Given the description of an element on the screen output the (x, y) to click on. 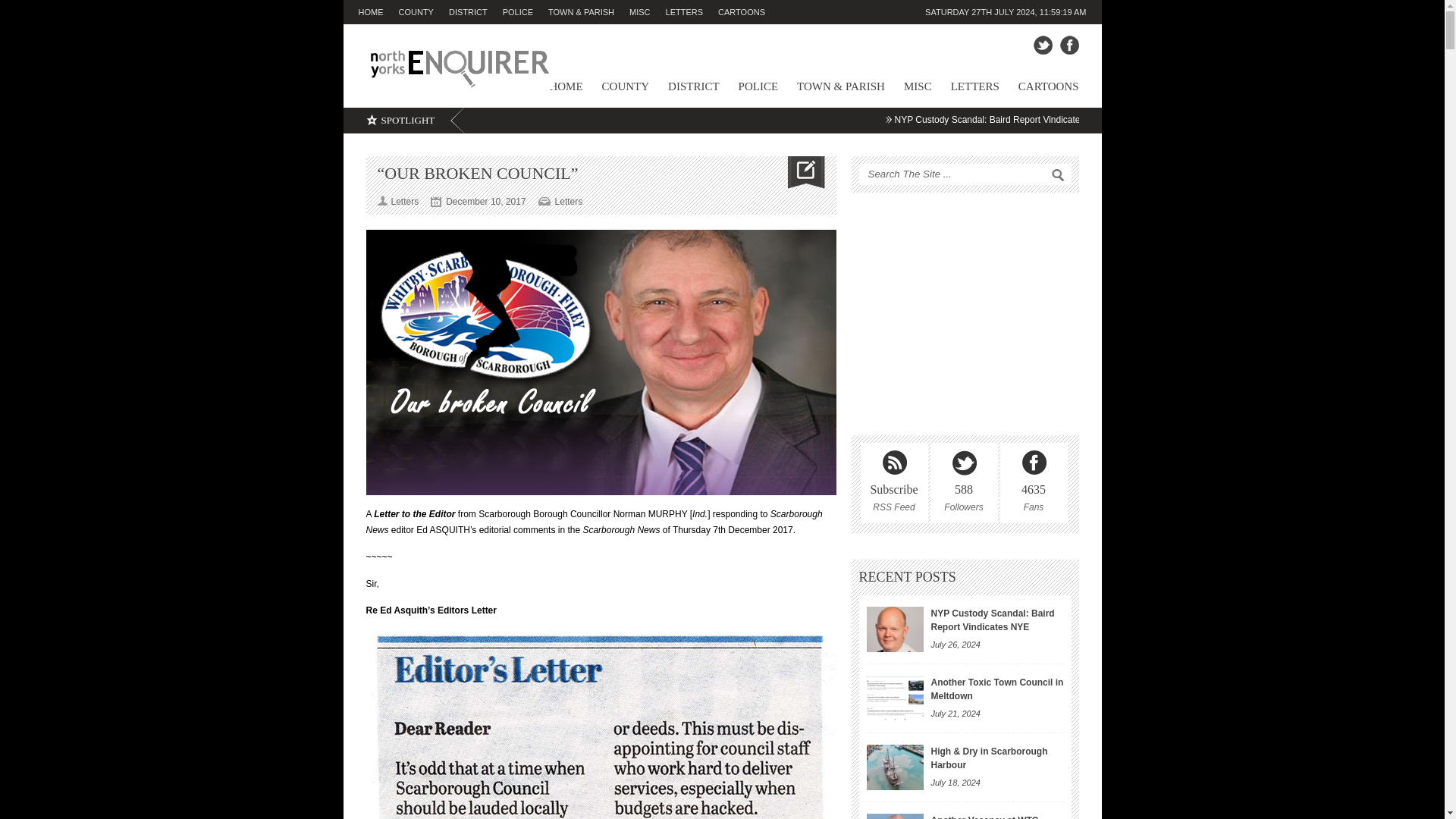
Advertisement (964, 313)
Another Toxic Town Council in Meltdown (997, 689)
Another Vacancy at WTC (894, 816)
NYP Custody Scandal: Baird Report Vindicates NYE (992, 620)
Posts by Letters (405, 201)
HOME (377, 12)
CARTOONS (748, 12)
MISC (646, 12)
Another Toxic Town Council in Meltdown (894, 698)
COUNTY (423, 12)
NYP Custody Scandal: Baird Report Vindicates NYE (894, 628)
Search The Site ... (958, 173)
POLICE (525, 12)
Another Vacancy at WTC (985, 816)
LETTERS (692, 12)
